Given the description of an element on the screen output the (x, y) to click on. 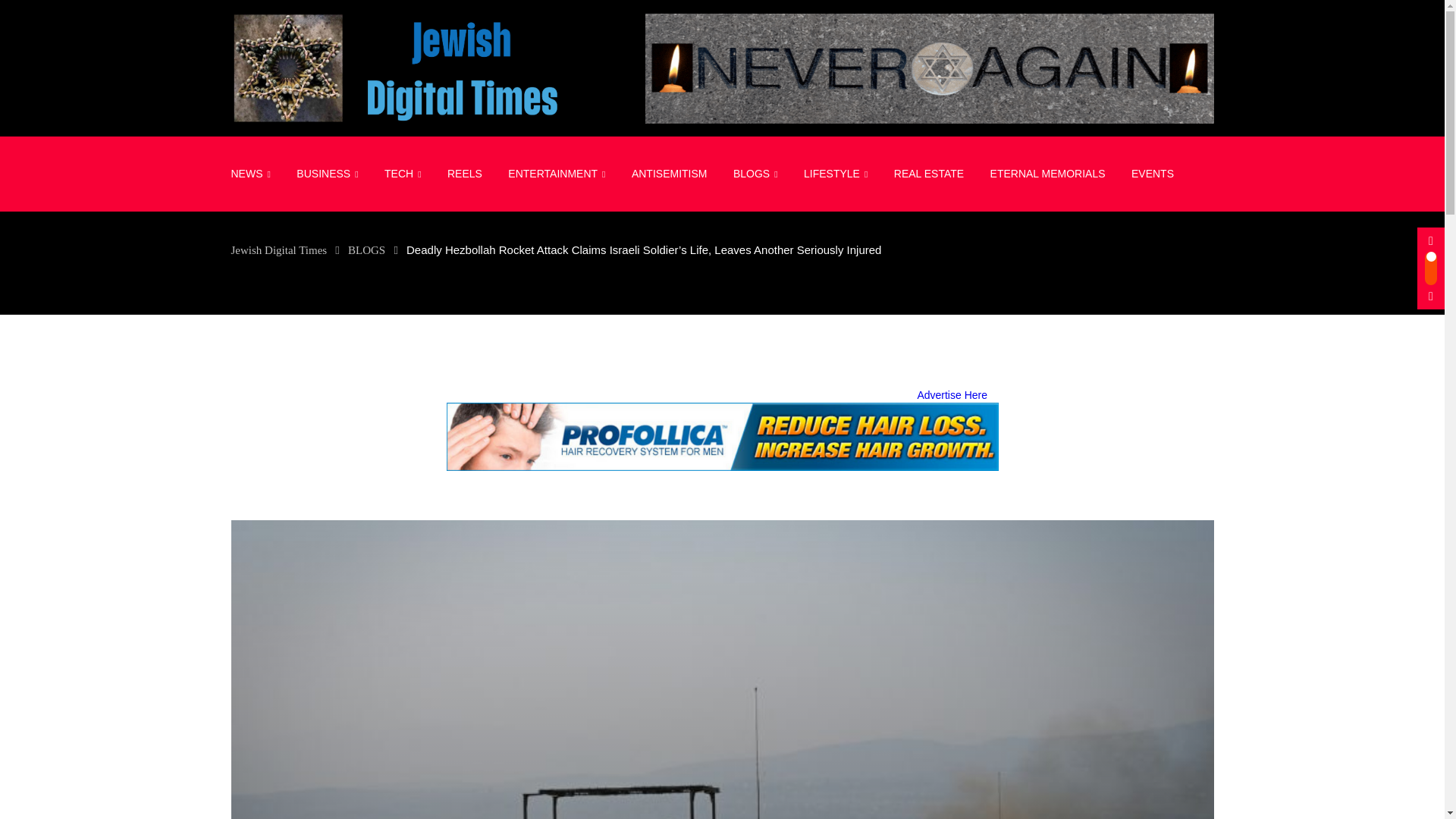
ENTERTAINMENT (555, 173)
LIFESTYLE (835, 173)
BLOGS (755, 173)
Go to Jewish Digital Times. (278, 250)
BUSINESS (327, 173)
Go to the BLOGS Category archives. (366, 250)
ANTISEMITISM (669, 173)
